Given the description of an element on the screen output the (x, y) to click on. 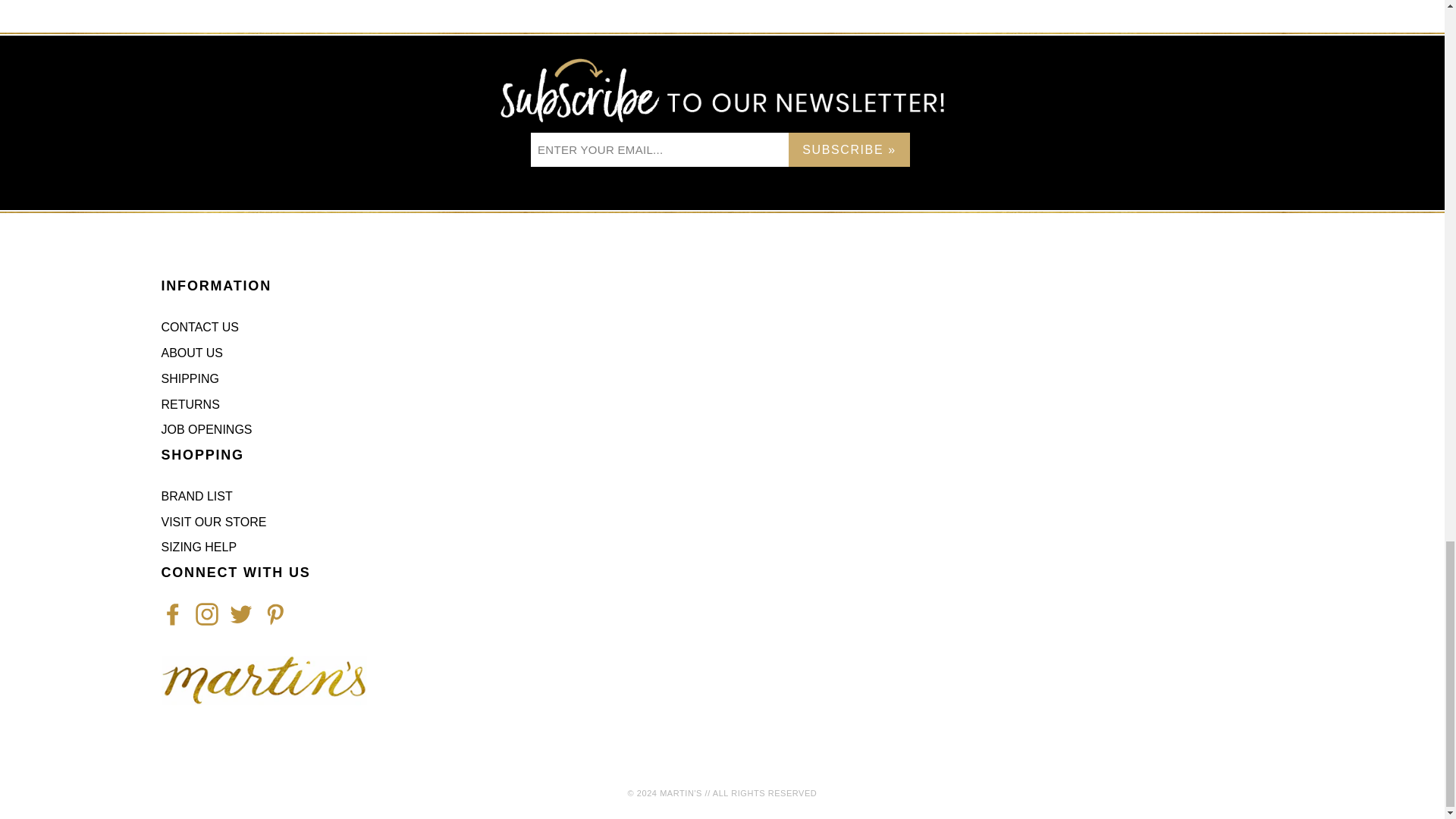
Martin's on Twitter (239, 613)
Martin's on Instagram (206, 613)
Martin's on Facebook (171, 613)
